Given the description of an element on the screen output the (x, y) to click on. 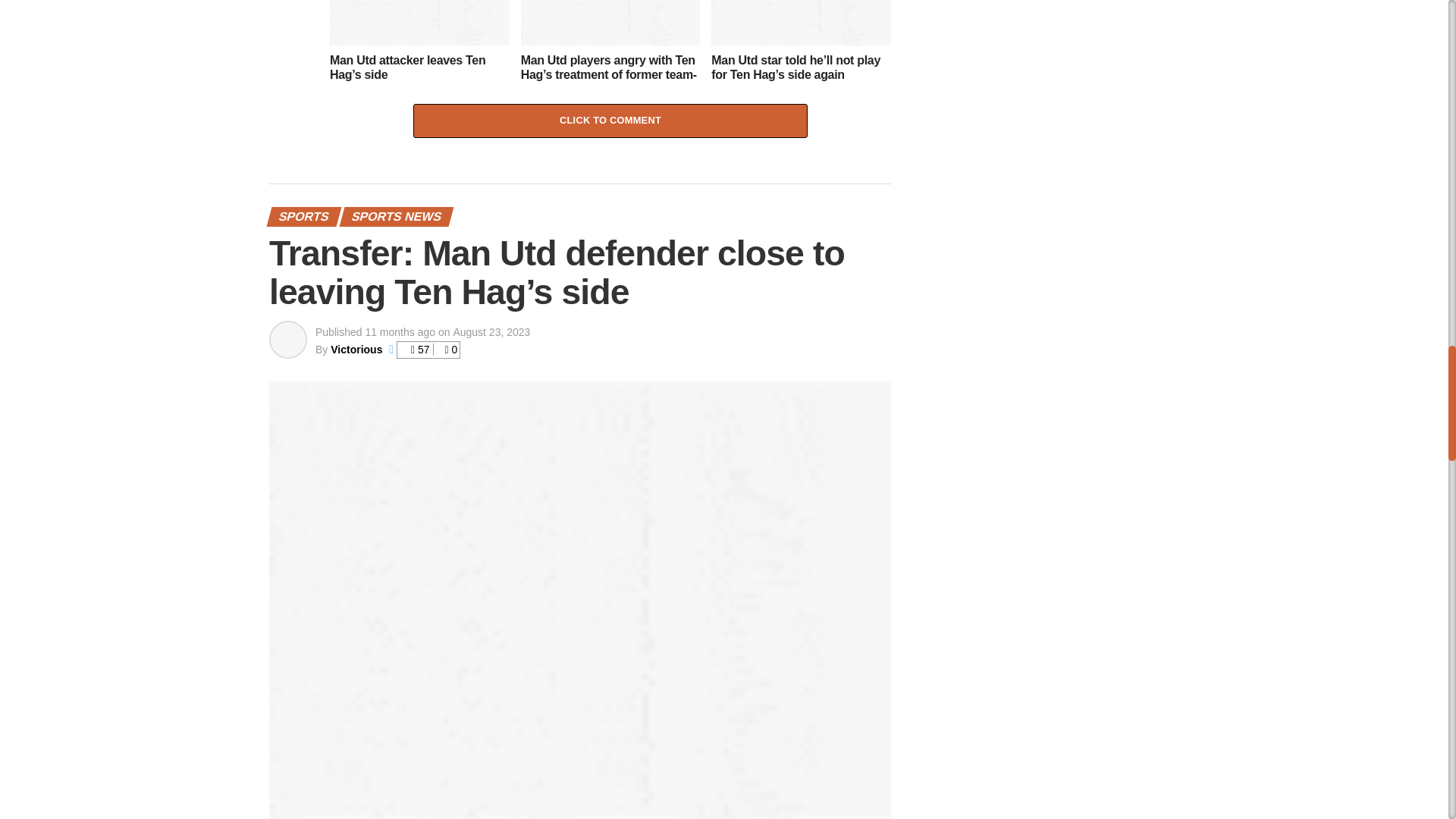
Posts by Victorious (355, 349)
